Given the description of an element on the screen output the (x, y) to click on. 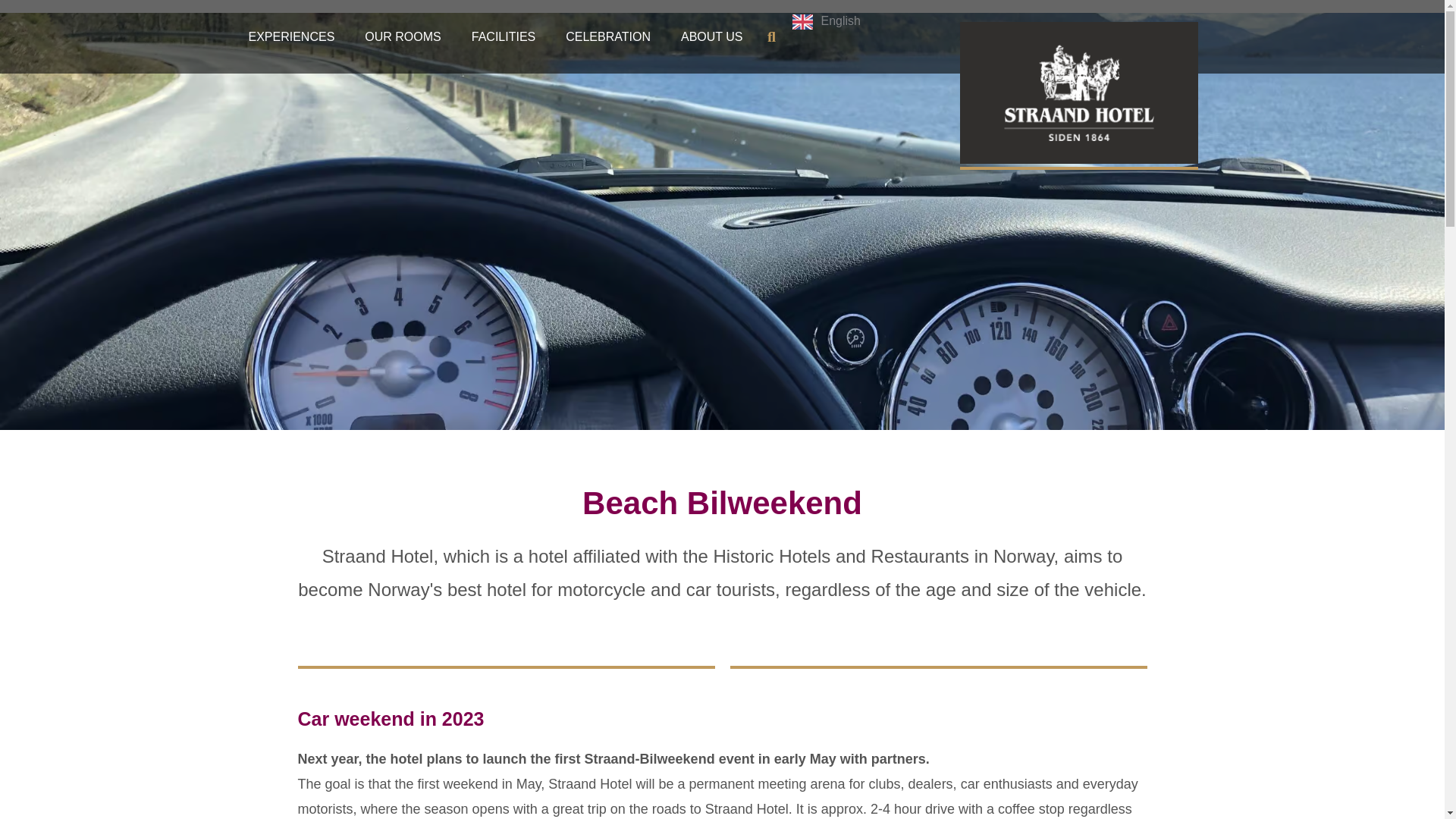
FACILITIES (503, 36)
OUR ROOMS (402, 36)
EXPERIENCES (291, 36)
ABOUT US (711, 36)
CELEBRATION (607, 36)
